Given the description of an element on the screen output the (x, y) to click on. 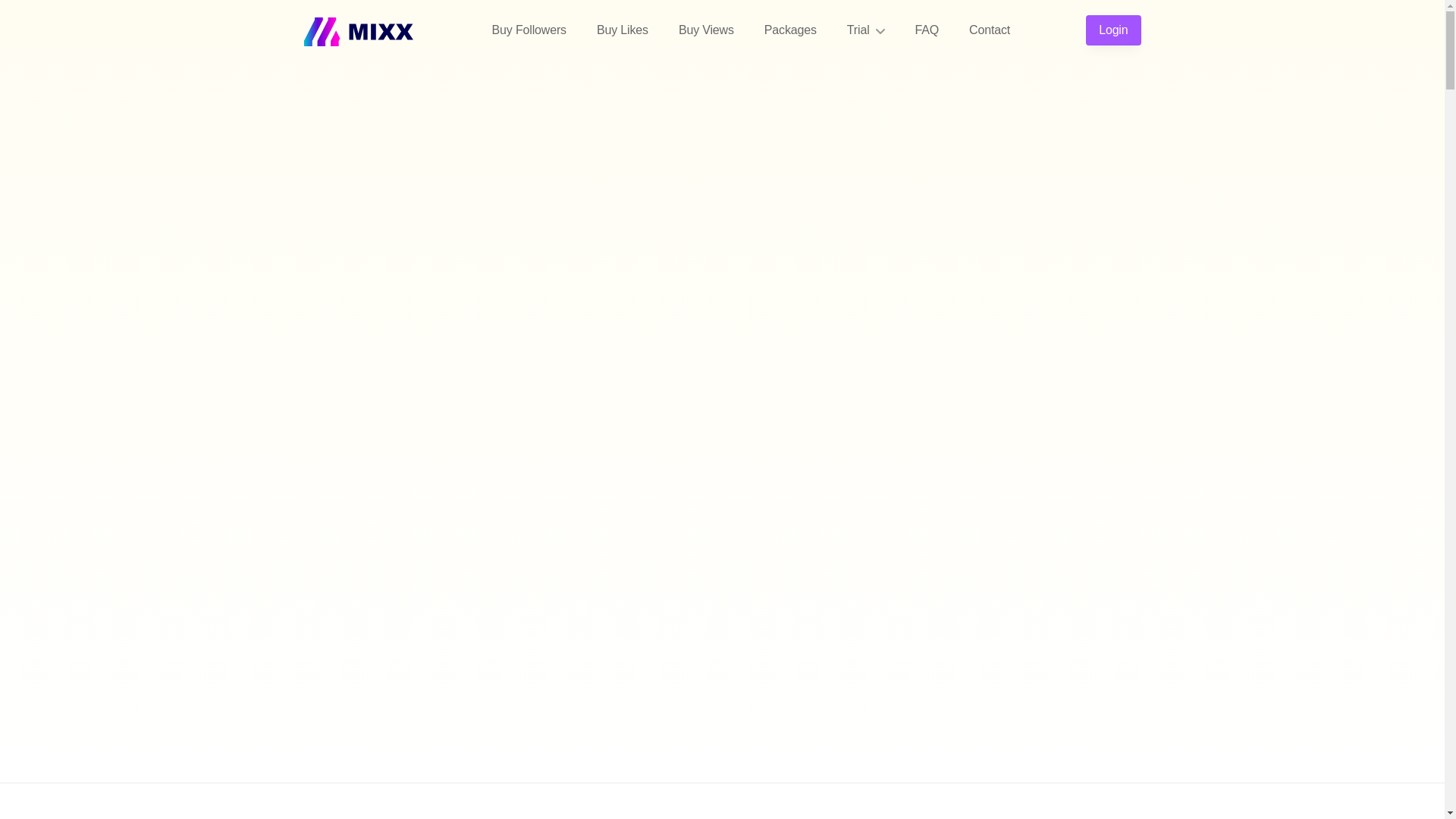
Buy Likes (621, 30)
Login (1113, 30)
Buy Followers (528, 30)
Packages (790, 30)
Buy Views (706, 30)
FAQ (927, 30)
Contact (989, 30)
